Given the description of an element on the screen output the (x, y) to click on. 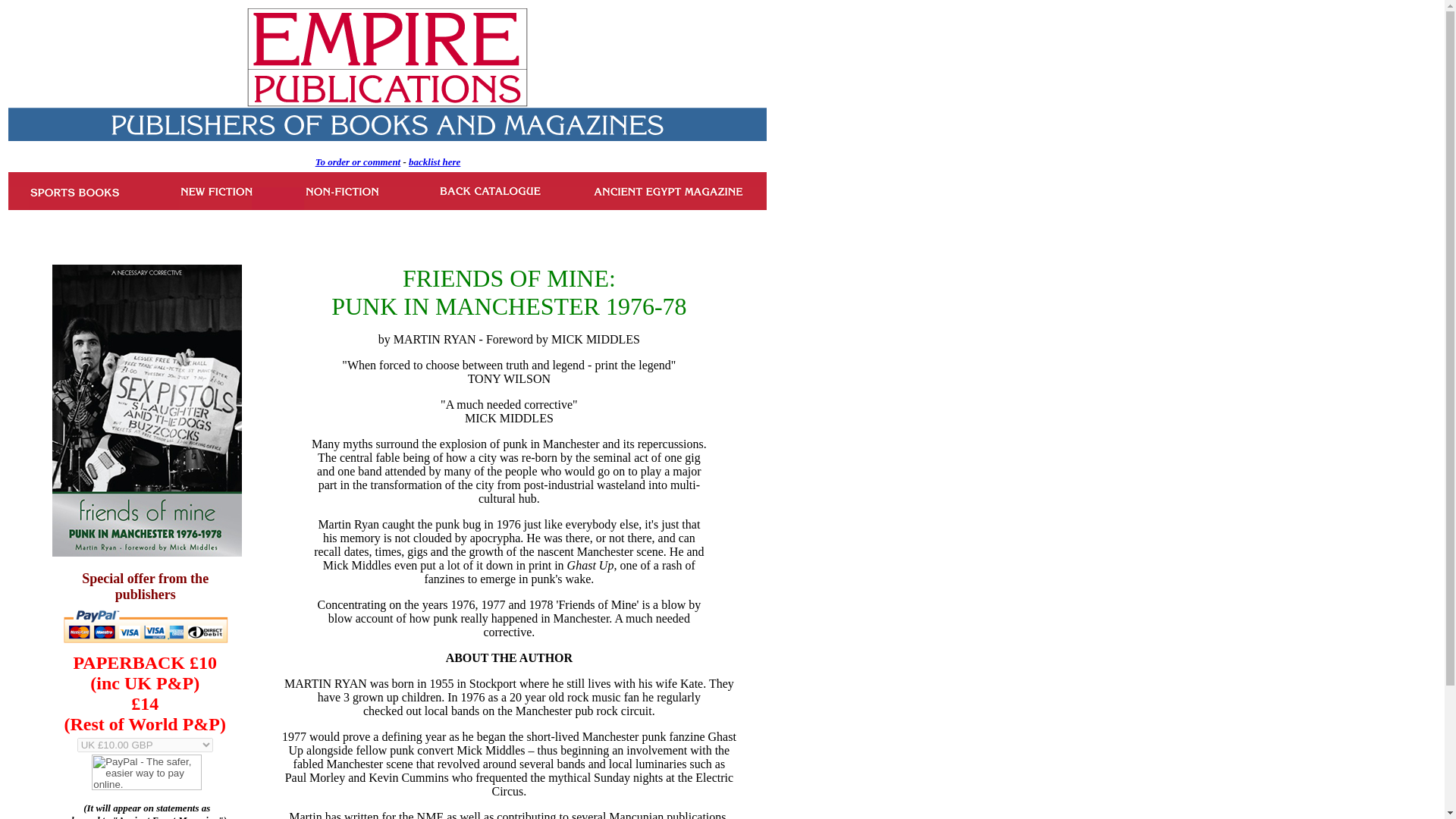
To order or comment (358, 160)
backlist here (434, 161)
